Given the description of an element on the screen output the (x, y) to click on. 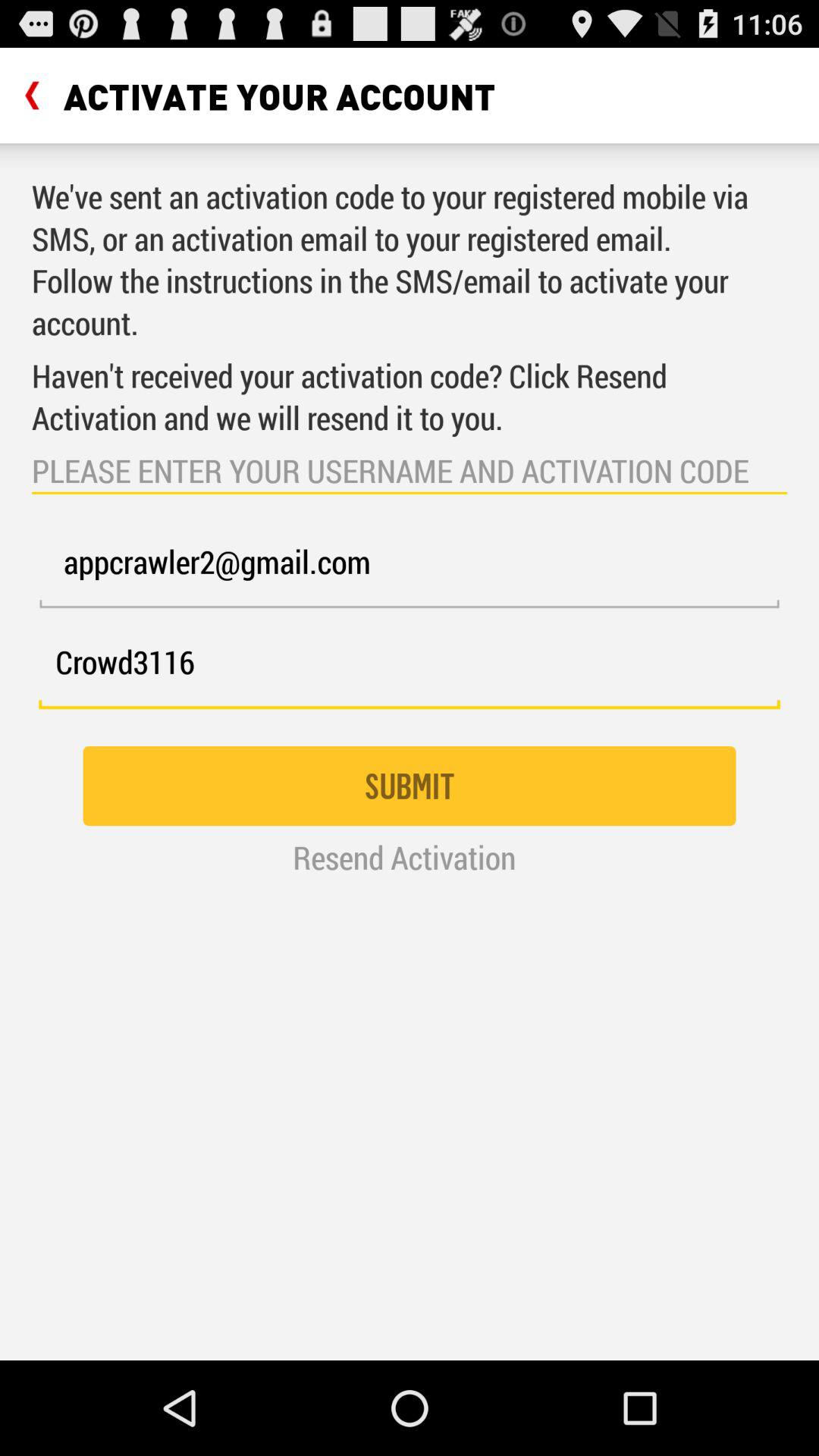
press submit item (409, 785)
